Given the description of an element on the screen output the (x, y) to click on. 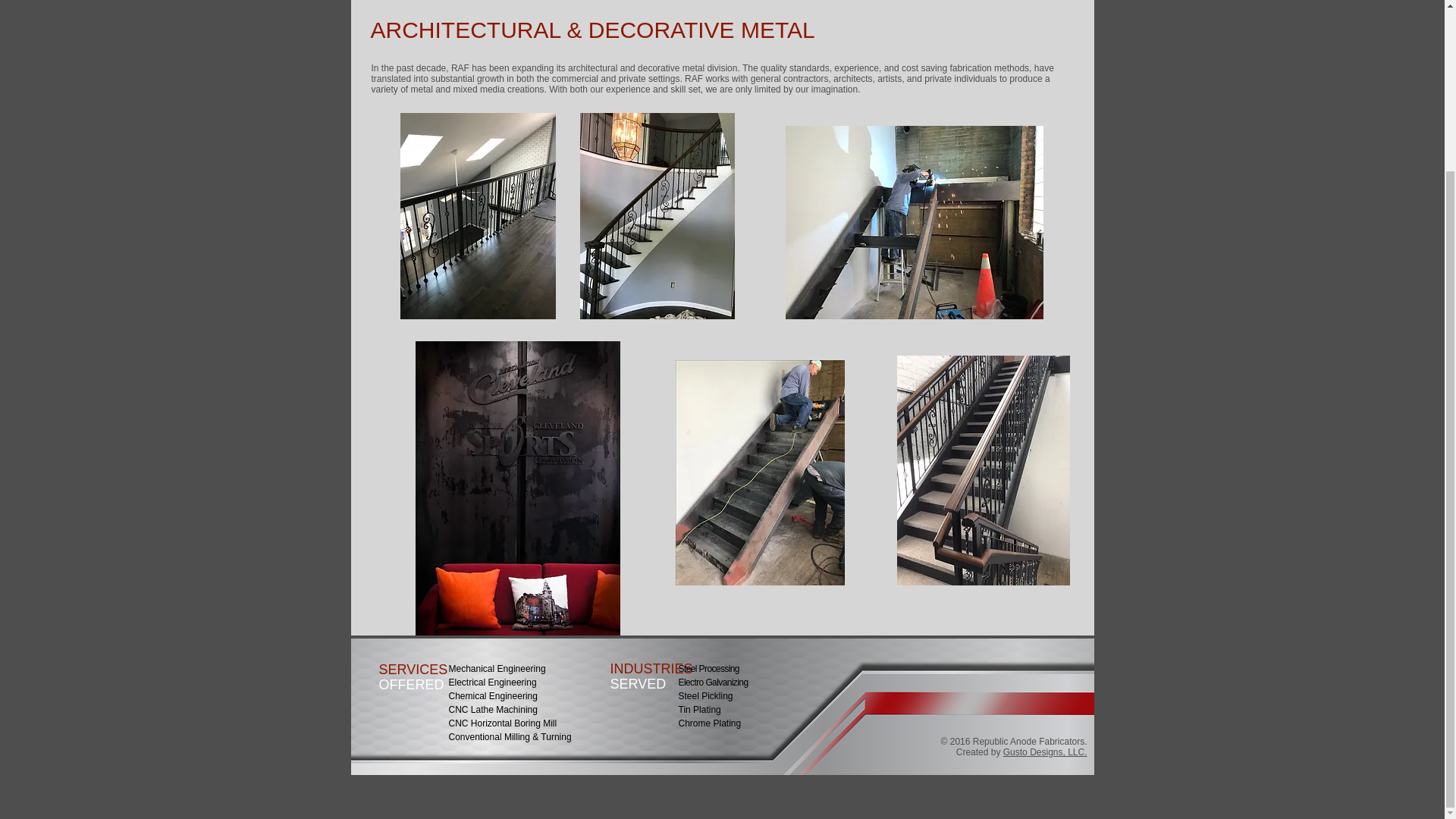
Gusto Designs, LLC. (1045, 751)
